Given the description of an element on the screen output the (x, y) to click on. 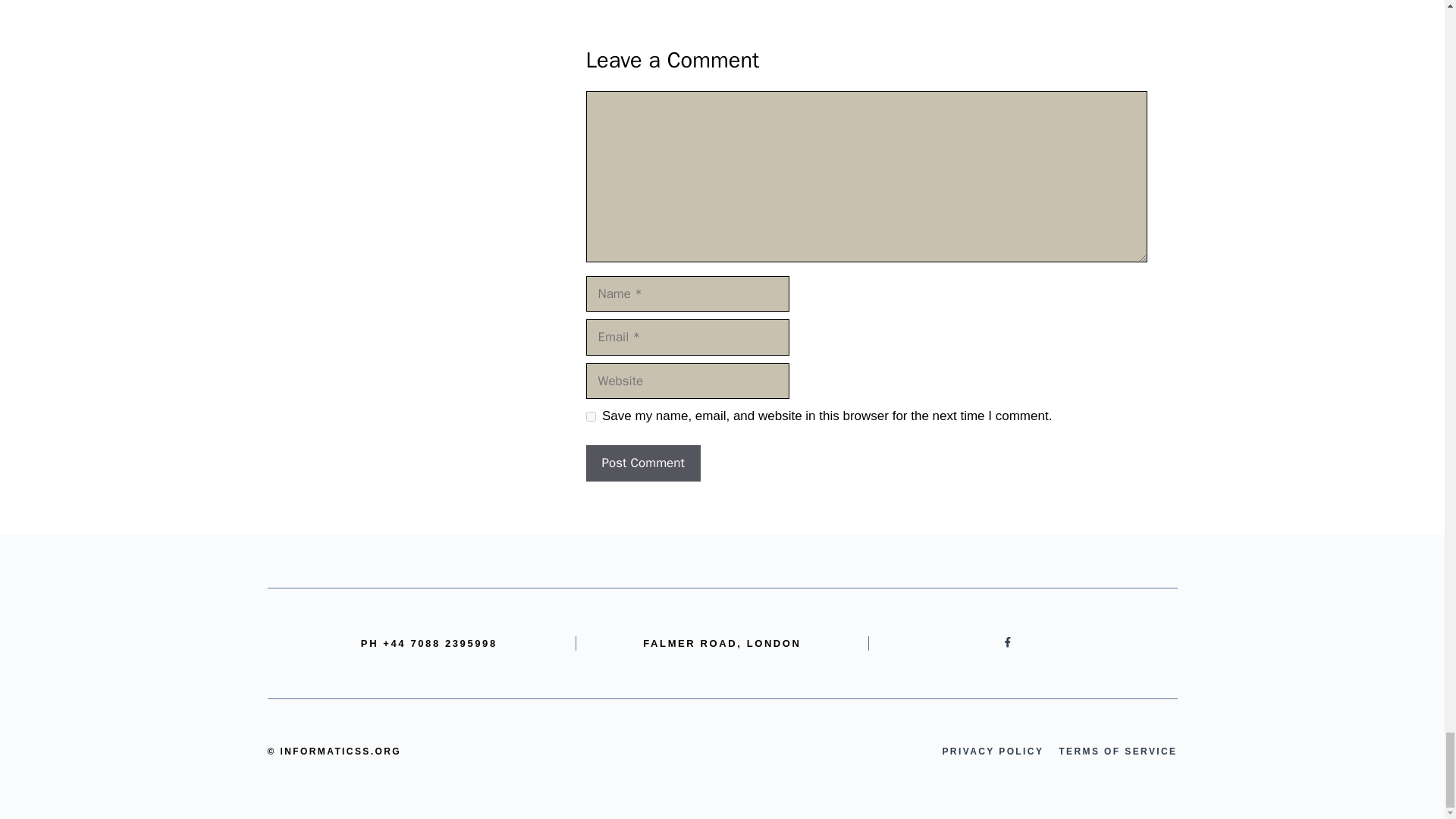
yes (590, 415)
Post Comment (642, 463)
Post Comment (642, 463)
